Given the description of an element on the screen output the (x, y) to click on. 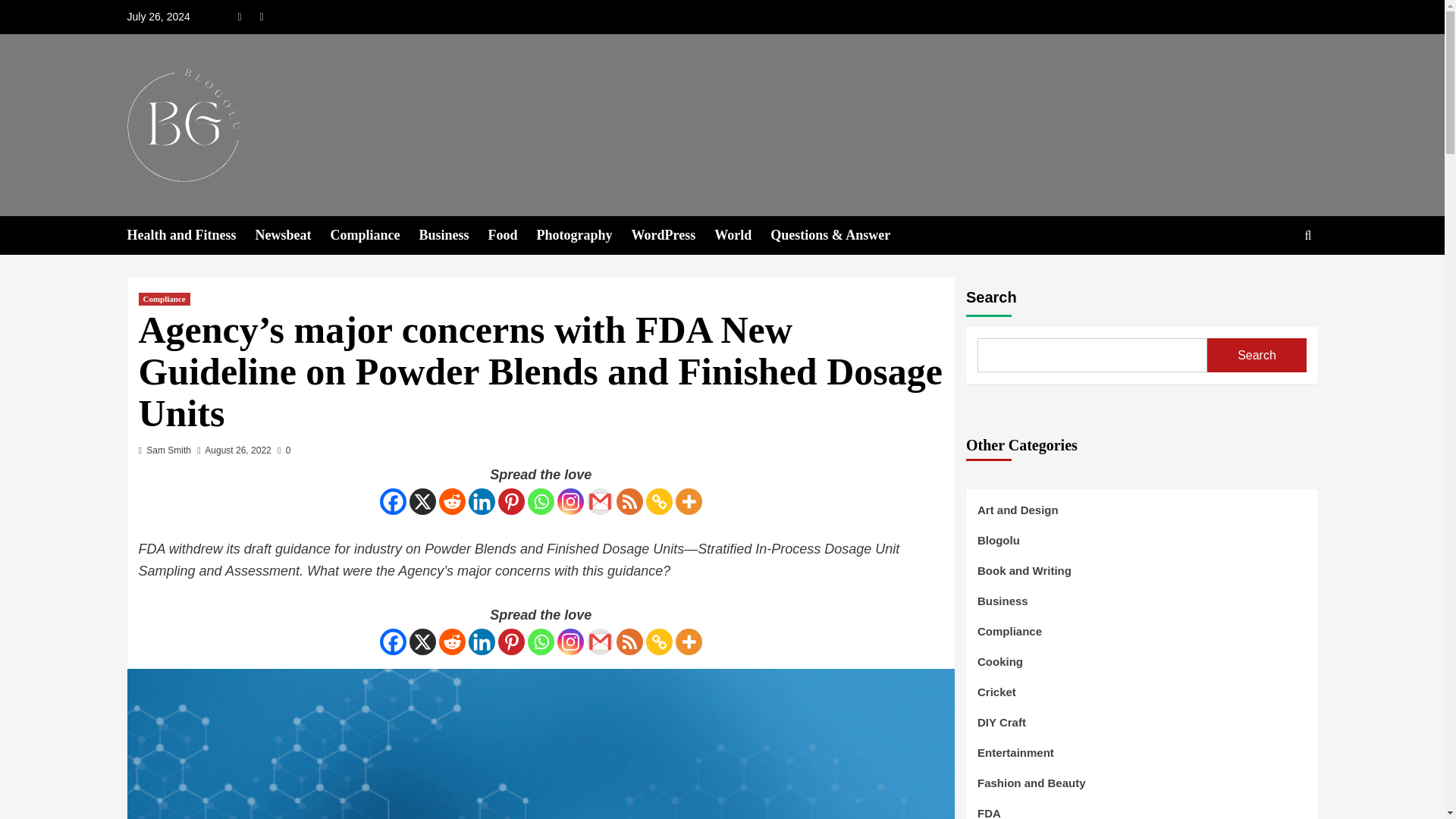
Newsbeat (293, 235)
Instagram (570, 501)
Search (1272, 282)
Whatsapp (540, 501)
August 26, 2022 (237, 450)
RSS Feed (629, 501)
Compliance (163, 298)
X (422, 501)
Reddit (452, 501)
World (742, 235)
Pinterest (510, 501)
WordPress (672, 235)
Compliance (374, 235)
Sam Smith (168, 450)
Food (512, 235)
